Given the description of an element on the screen output the (x, y) to click on. 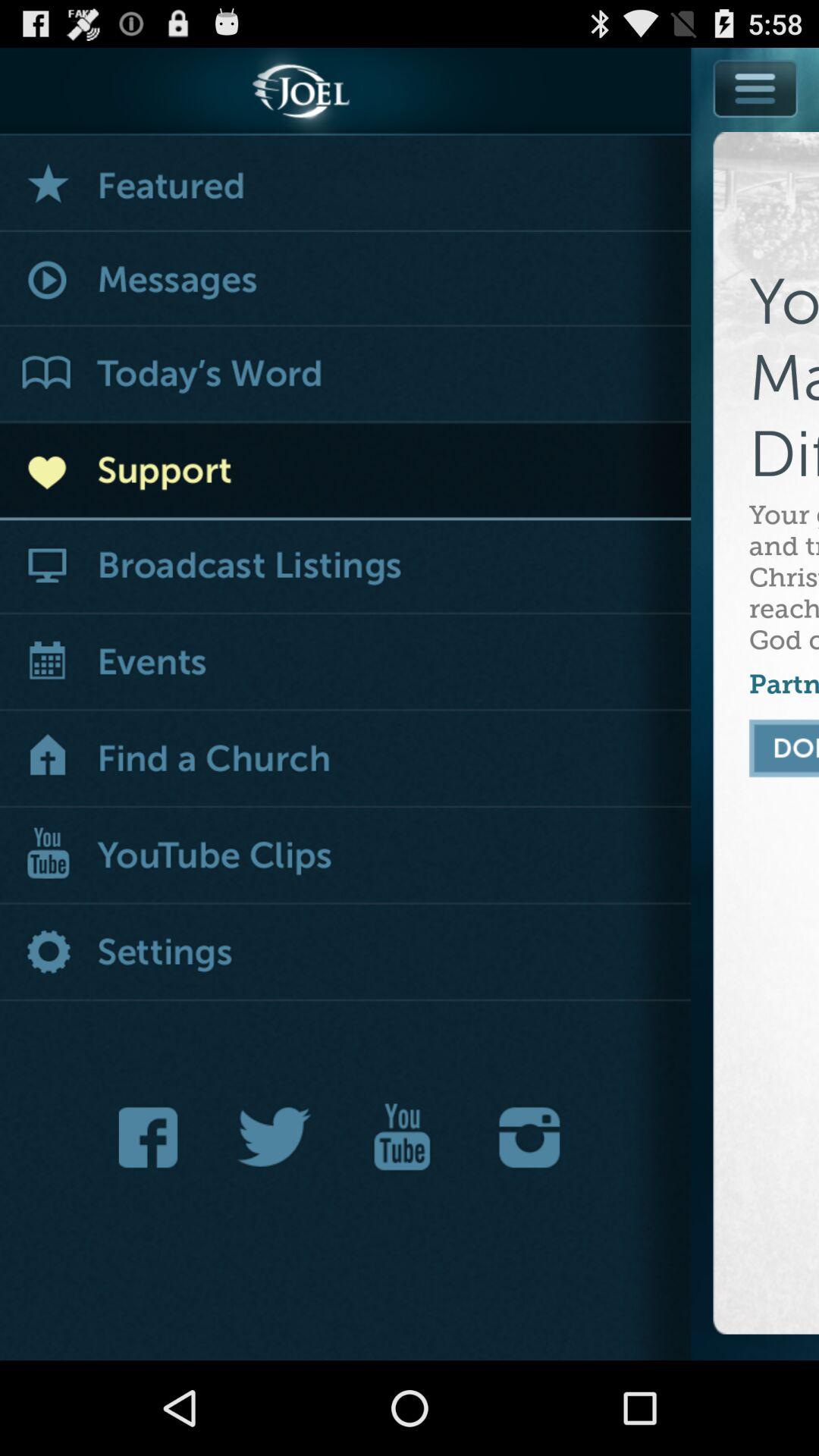
close menu (755, 88)
